Given the description of an element on the screen output the (x, y) to click on. 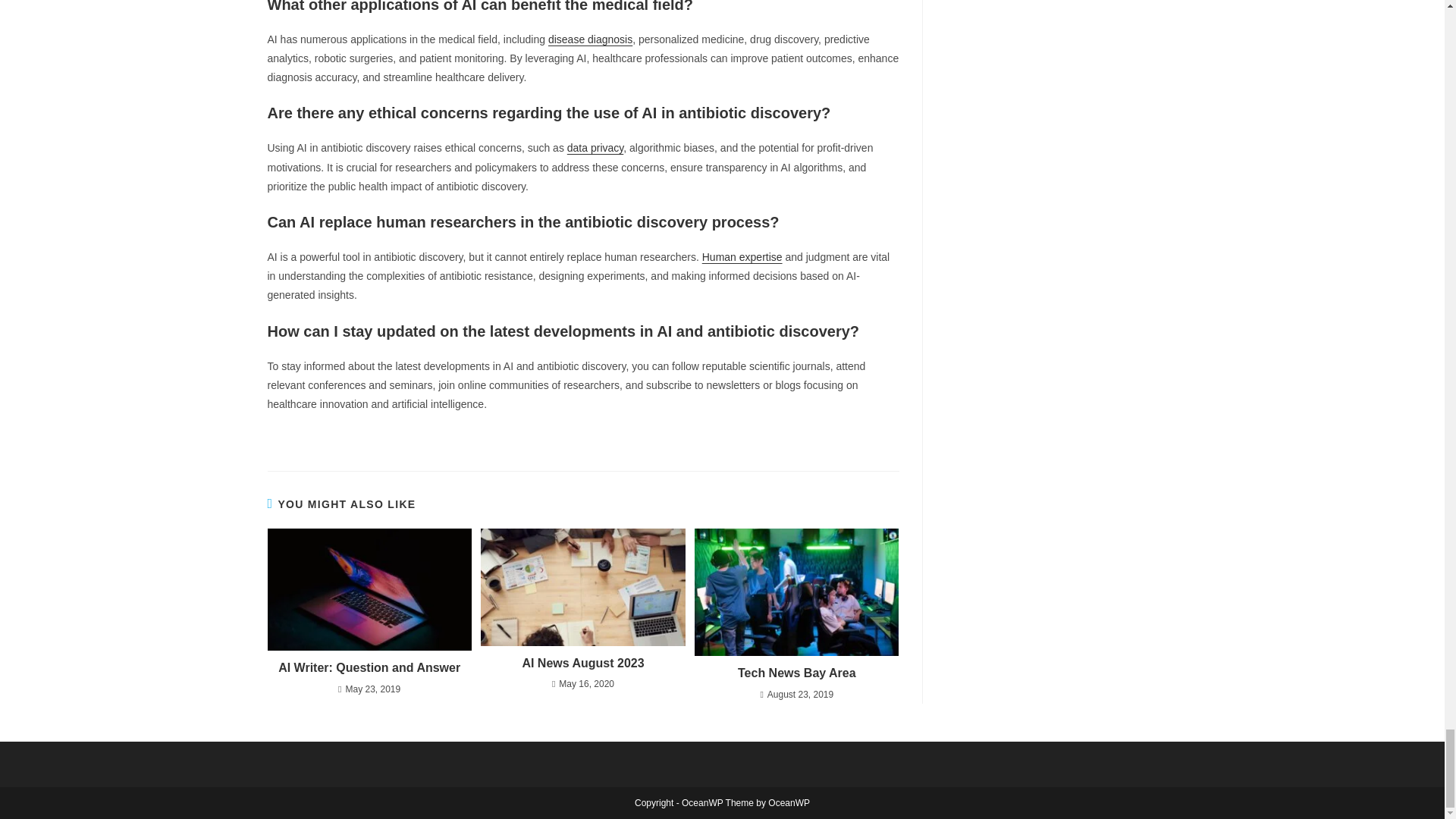
AI News August 2023 (582, 663)
data privacy (595, 147)
disease diagnosis (589, 39)
Tech News Bay Area (796, 673)
AI Writer: Question and Answer (368, 668)
Human expertise (742, 256)
